Given the description of an element on the screen output the (x, y) to click on. 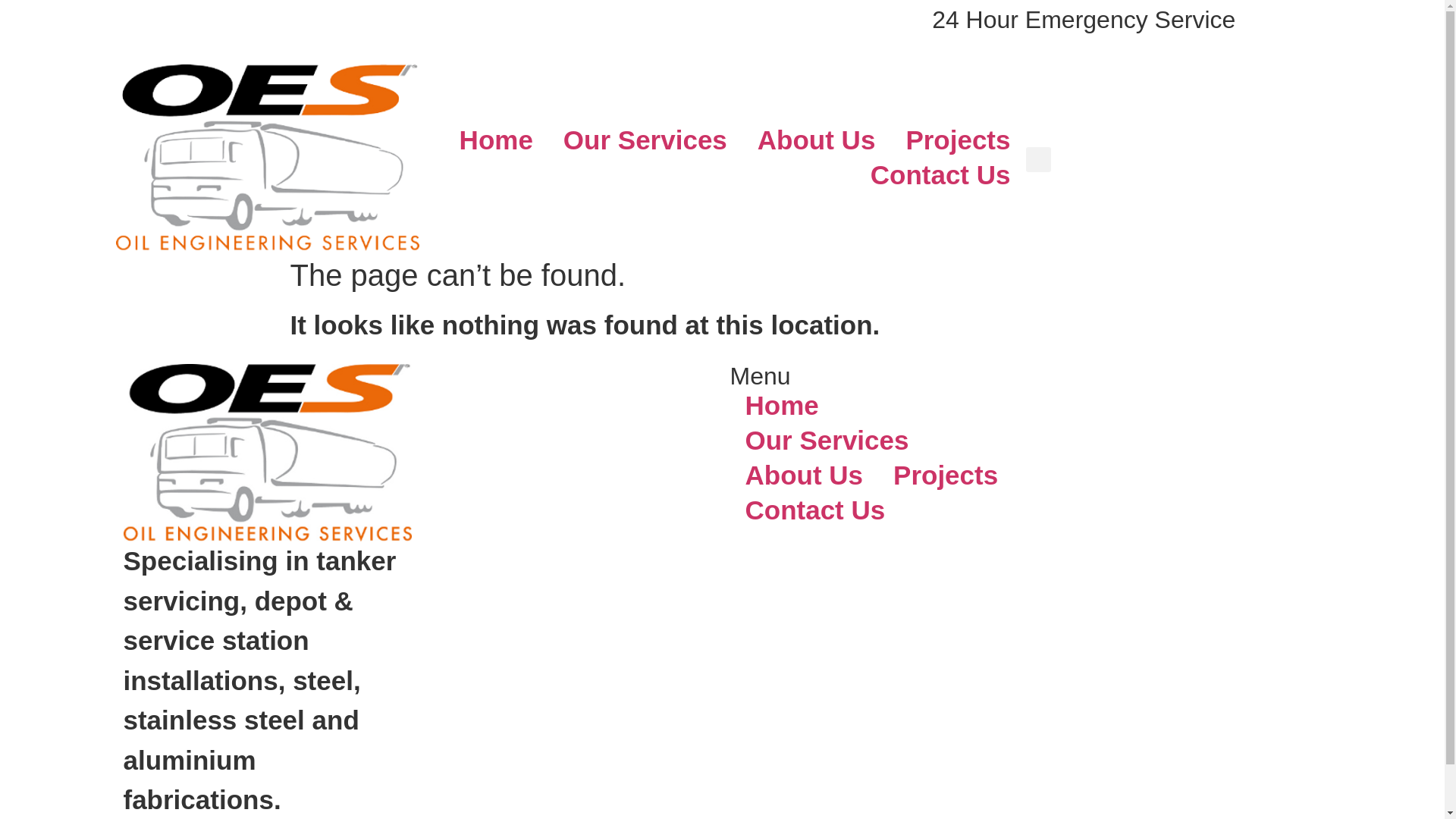
About Us Element type: text (803, 475)
Our Services Element type: text (826, 440)
Contact Us Element type: text (940, 174)
Projects Element type: text (945, 475)
24 Hour Emergency Service Element type: text (1083, 19)
Projects Element type: text (957, 139)
About Us Element type: text (816, 139)
Our Services Element type: text (645, 139)
Home Element type: text (781, 405)
Home Element type: text (496, 139)
Contact Us Element type: text (814, 509)
